Given the description of an element on the screen output the (x, y) to click on. 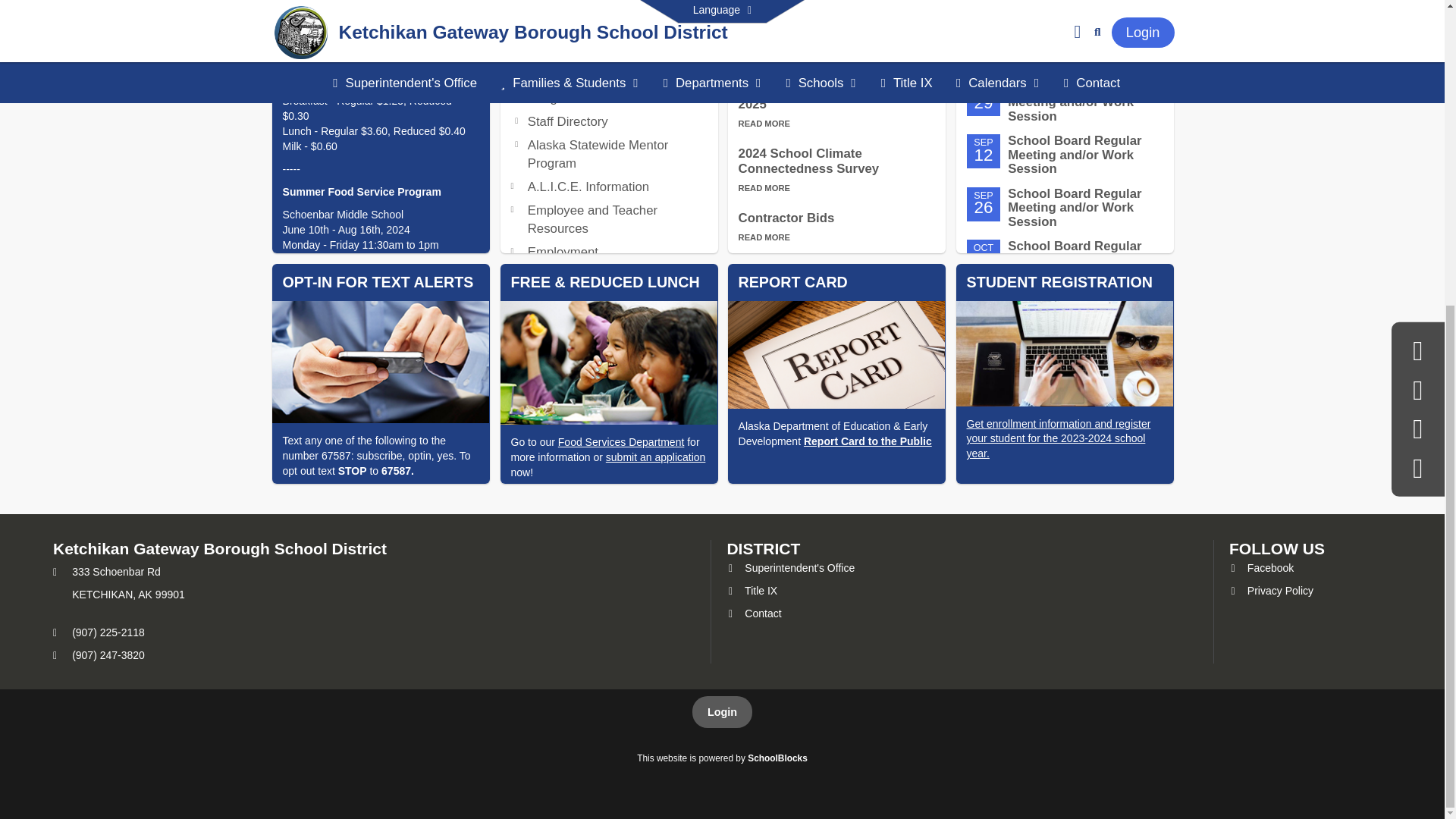
Canvas (1064, 11)
Alaska Statewide Mentor Program (597, 154)
Click here for bus information. (608, 11)
Immunization Information - English (602, 284)
Staff Directory (567, 121)
Employee and Teacher Resources (592, 219)
Superintendent's Office (790, 567)
Click here for meal menus. (379, 11)
Immunization Information - Tagalog (602, 326)
